Given the description of an element on the screen output the (x, y) to click on. 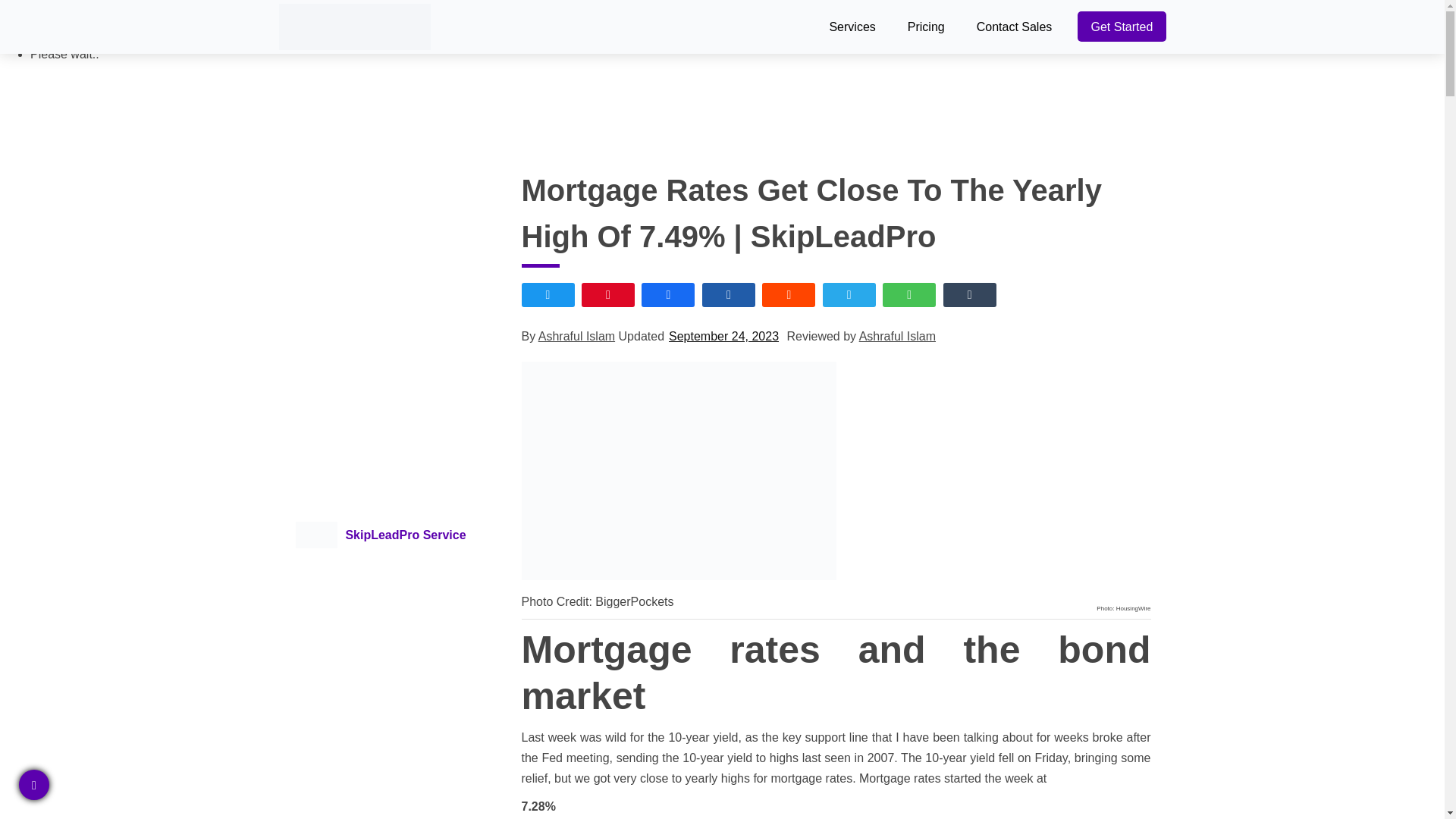
Services (851, 26)
Ashraful Islam (576, 336)
Pricing (925, 26)
Services (851, 26)
Contact Sales (1014, 26)
Search (178, 32)
Get Started (1121, 26)
Ashraful Islam (897, 336)
Contact Sales (1014, 26)
Pricing (925, 26)
